Given the description of an element on the screen output the (x, y) to click on. 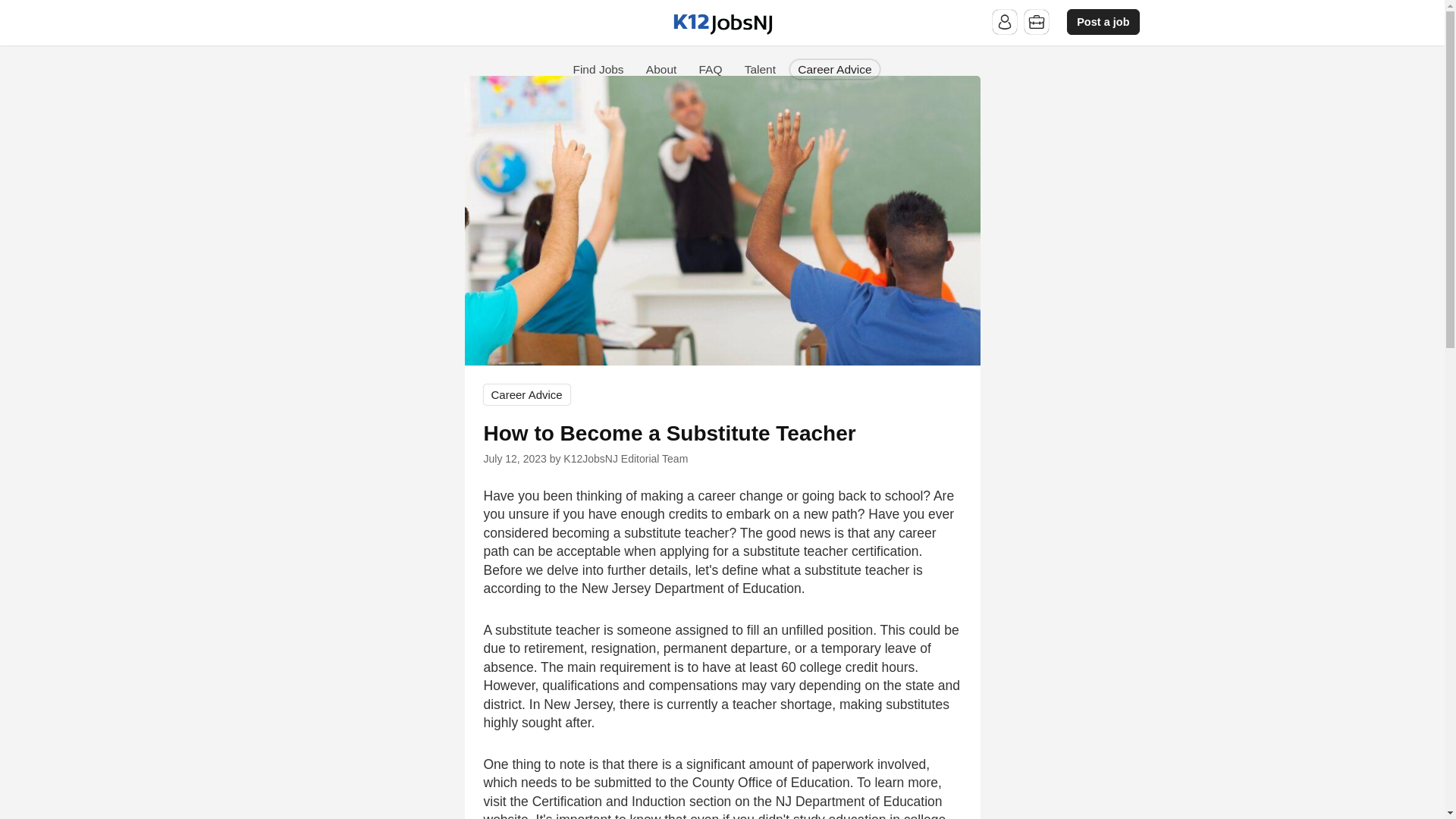
Post a job (1102, 22)
Career Advice (834, 68)
K12JobsNJ.com (721, 23)
FAQ (709, 68)
Find Jobs (597, 68)
About (661, 68)
Talent (759, 68)
